Given the description of an element on the screen output the (x, y) to click on. 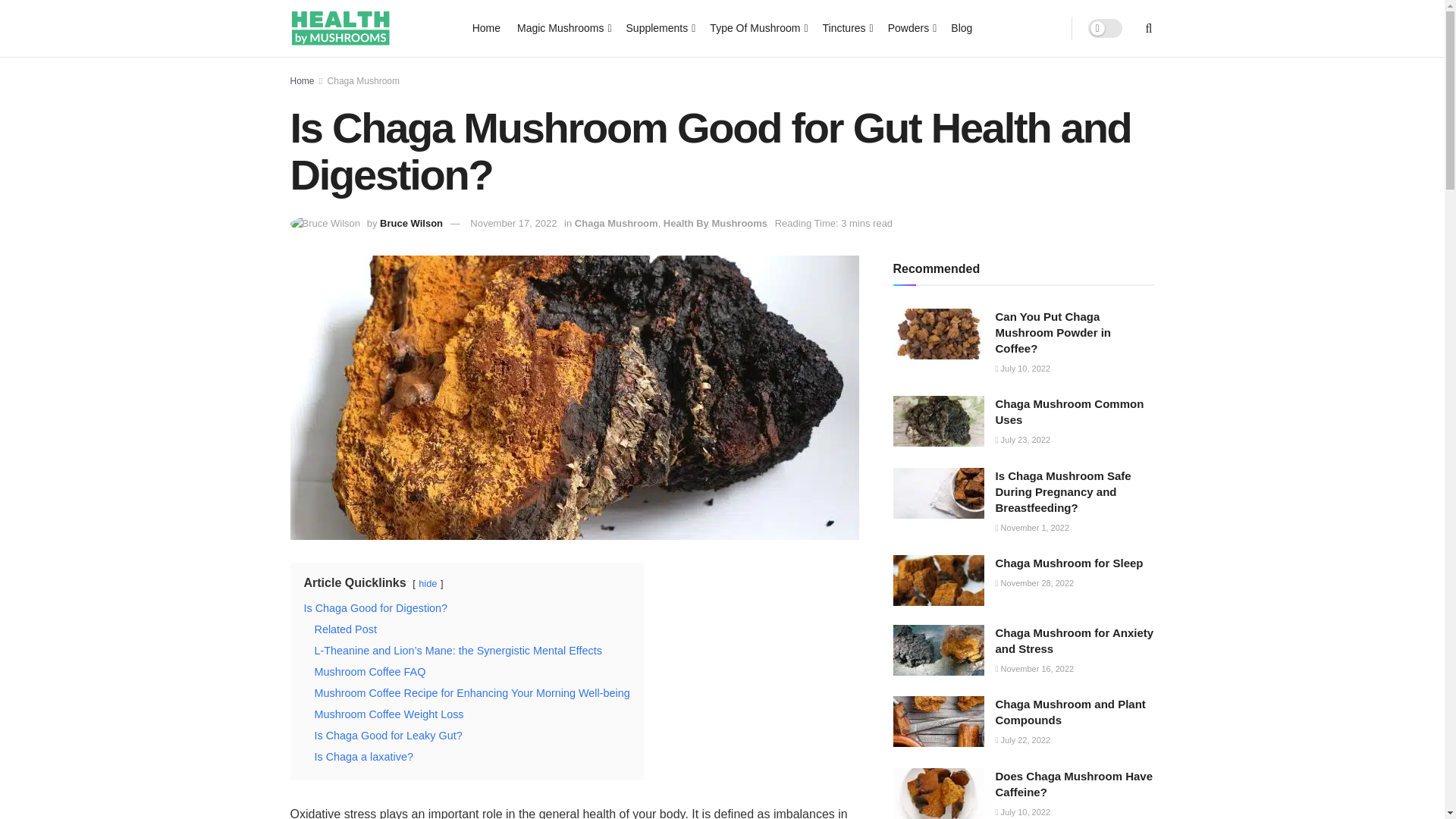
Home (485, 27)
Type Of Mushroom (757, 27)
Magic Mushrooms (563, 27)
Supplements (660, 27)
